Given the description of an element on the screen output the (x, y) to click on. 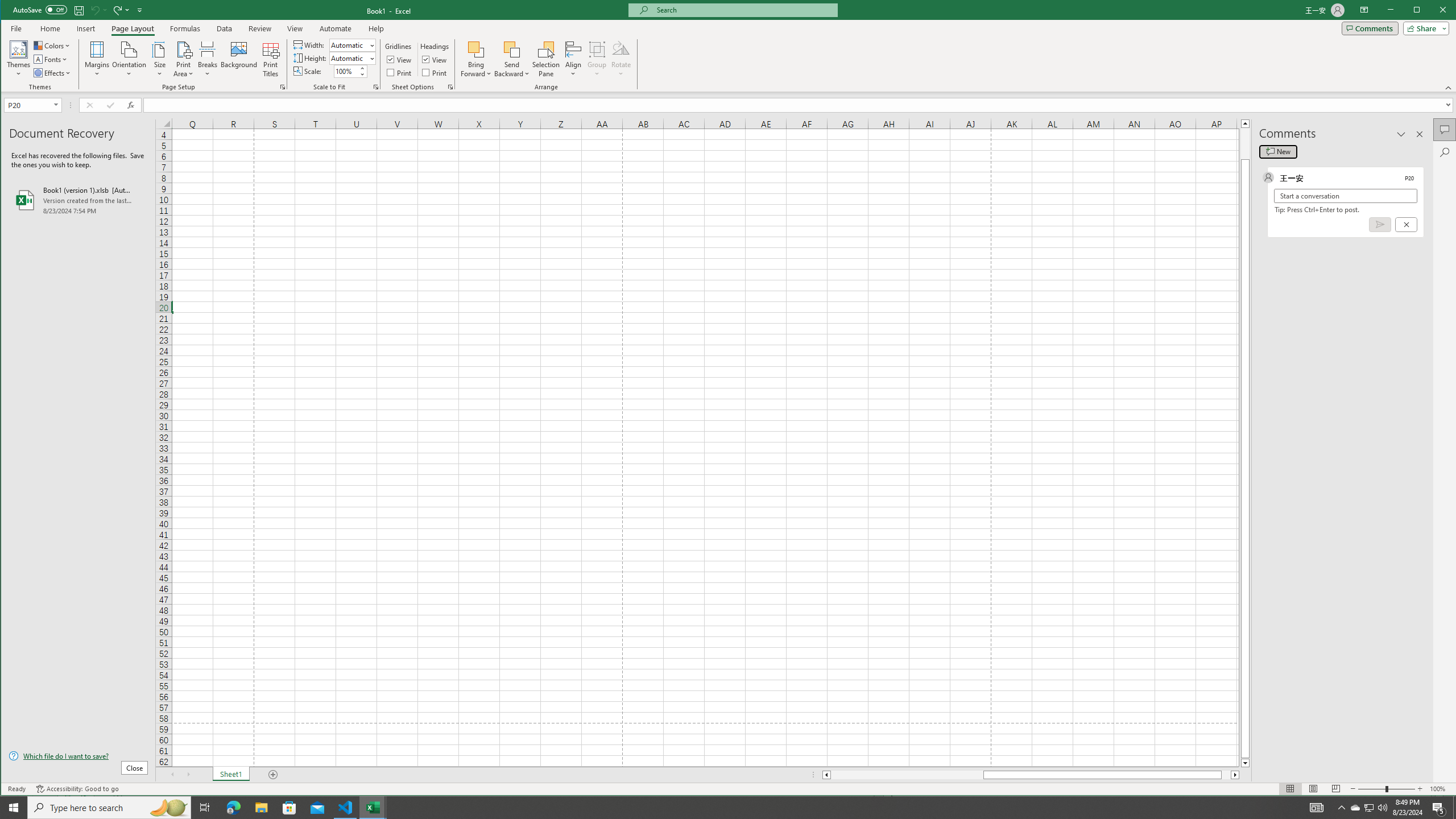
Selection Pane... (546, 59)
Print Titles (270, 59)
Start a conversation (1344, 195)
Task View (1368, 807)
Height (204, 807)
Start (349, 58)
Height (13, 807)
Cancel (352, 57)
